Given the description of an element on the screen output the (x, y) to click on. 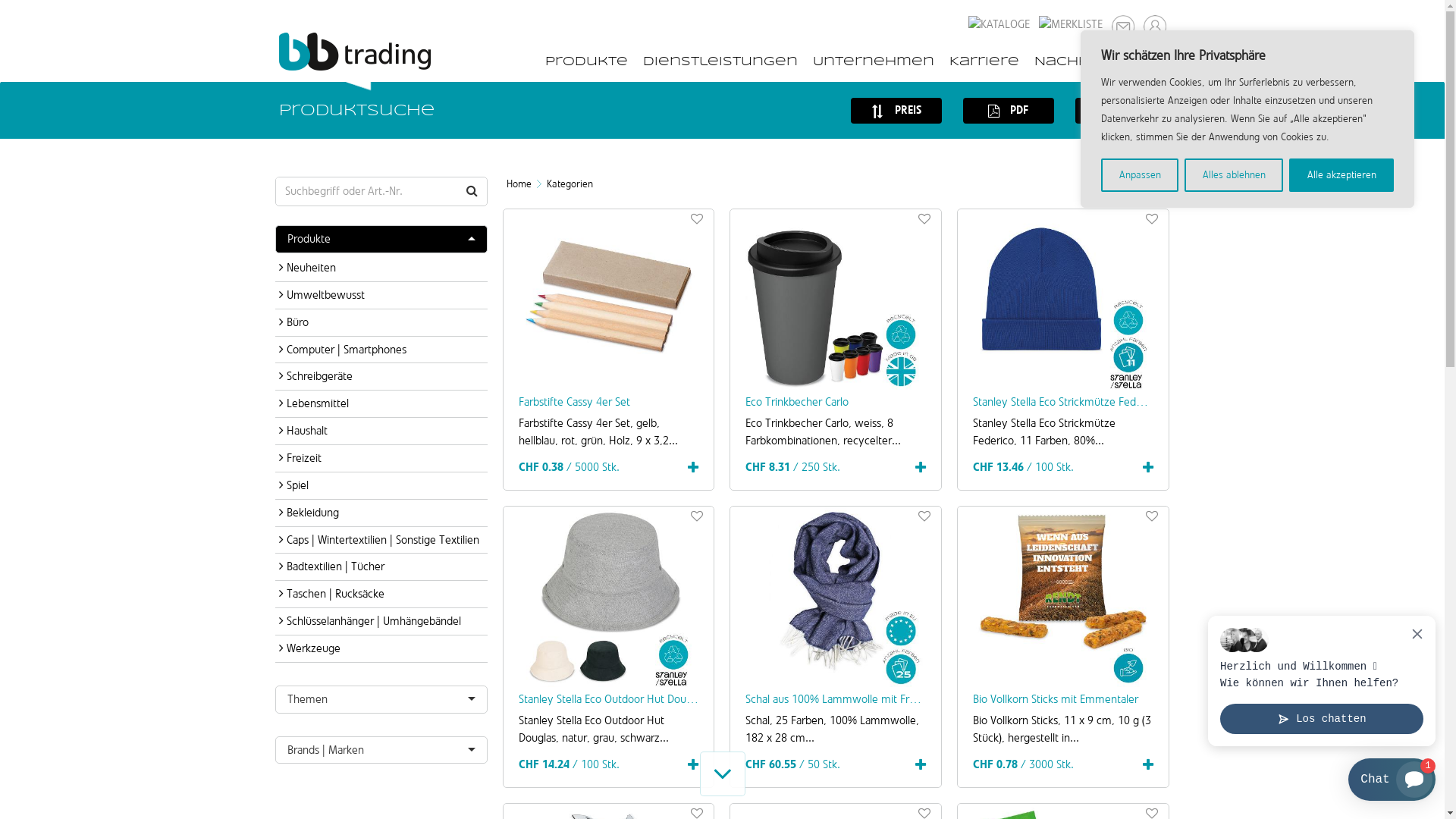
Login Element type: hover (1152, 20)
Merken Element type: hover (924, 218)
Smartsupp widget popup Element type: hover (1321, 680)
Kategorien Element type: text (569, 183)
Themen Element type: text (380, 699)
Anpassen Element type: text (1139, 174)
PDF Element type: text (1008, 109)
 Lebensmittel Element type: text (380, 403)
Anfrage Element type: hover (1122, 20)
Smartsupp widget button Element type: hover (1391, 779)
 Spiel Element type: text (380, 485)
Unternehmen Element type: text (873, 61)
Merken Element type: hover (696, 515)
 Caps | Wintertextilien | Sonstige Textilien Element type: text (380, 540)
Merken Element type: hover (924, 515)
 Umweltbewusst Element type: text (380, 295)
Merkliste Element type: hover (1069, 18)
 Neuheiten Element type: text (380, 267)
 Computer | Smartphones Element type: text (380, 349)
Brands | Marken Element type: text (380, 750)
Merken Element type: hover (696, 218)
Merken Element type: hover (1151, 515)
 Bekleidung Element type: text (380, 512)
Dienstleistungen Element type: text (720, 61)
 Haushalt Element type: text (380, 430)
Produkte Element type: text (380, 239)
Karriere Element type: text (983, 61)
PREIS Element type: text (895, 109)
Alle akzeptieren Element type: text (1341, 174)
 Werkzeuge Element type: text (380, 648)
Home Element type: text (518, 183)
FILTER Element type: text (1120, 110)
Nachhaltigkeit Element type: text (1097, 61)
 Freizeit Element type: text (380, 458)
Produkte Element type: text (585, 61)
Kataloge Element type: hover (998, 18)
Merken Element type: hover (1151, 218)
Alles ablehnen Element type: text (1233, 174)
